Given the description of an element on the screen output the (x, y) to click on. 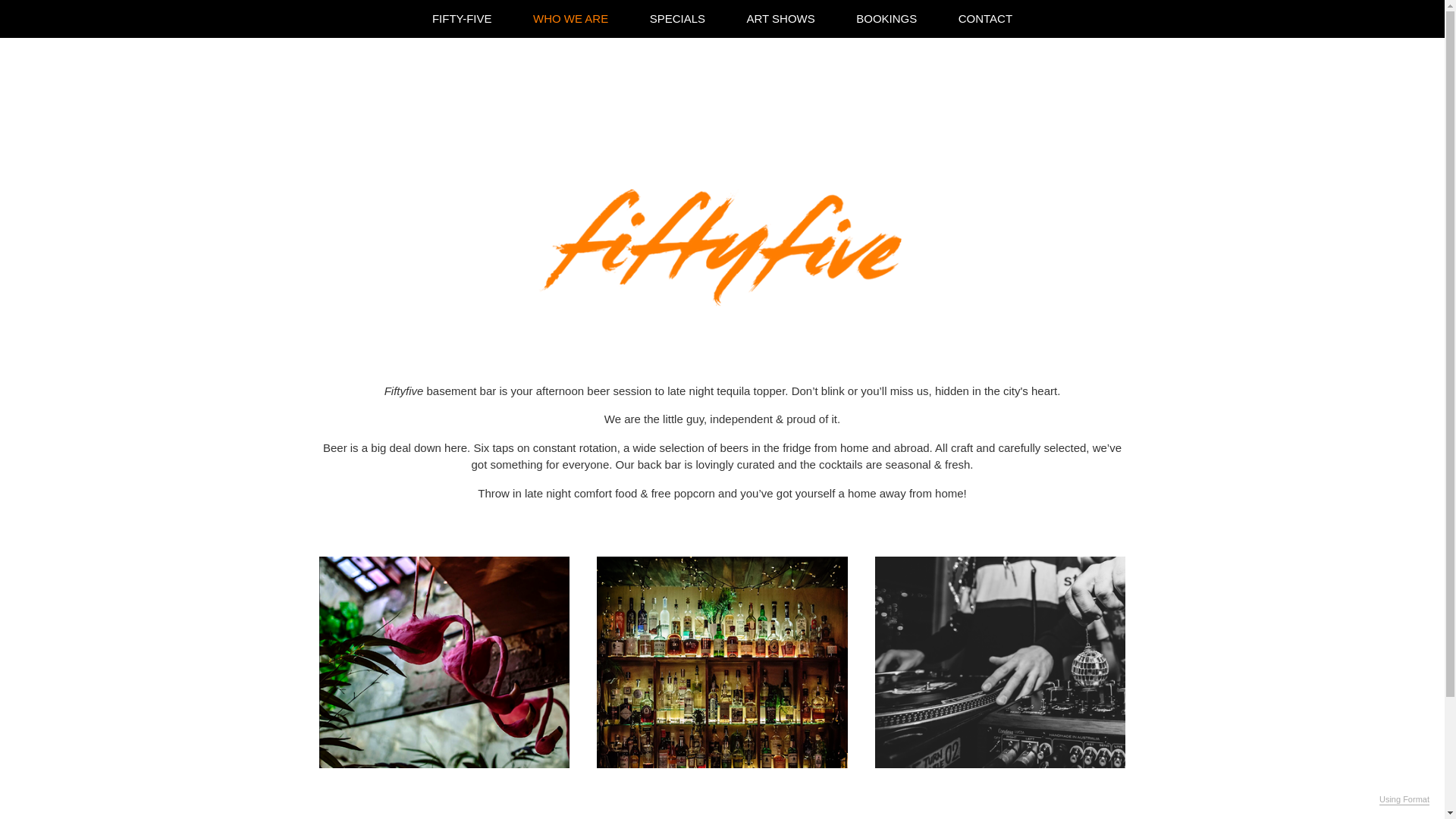
CONTACT Element type: text (985, 18)
SPECIALS Element type: text (677, 18)
Using Format Element type: text (1404, 799)
WHO WE ARE Element type: text (570, 18)
ART SHOWS Element type: text (780, 18)
BOOKINGS Element type: text (886, 18)
FIFTY-FIVE Element type: text (462, 18)
